Given the description of an element on the screen output the (x, y) to click on. 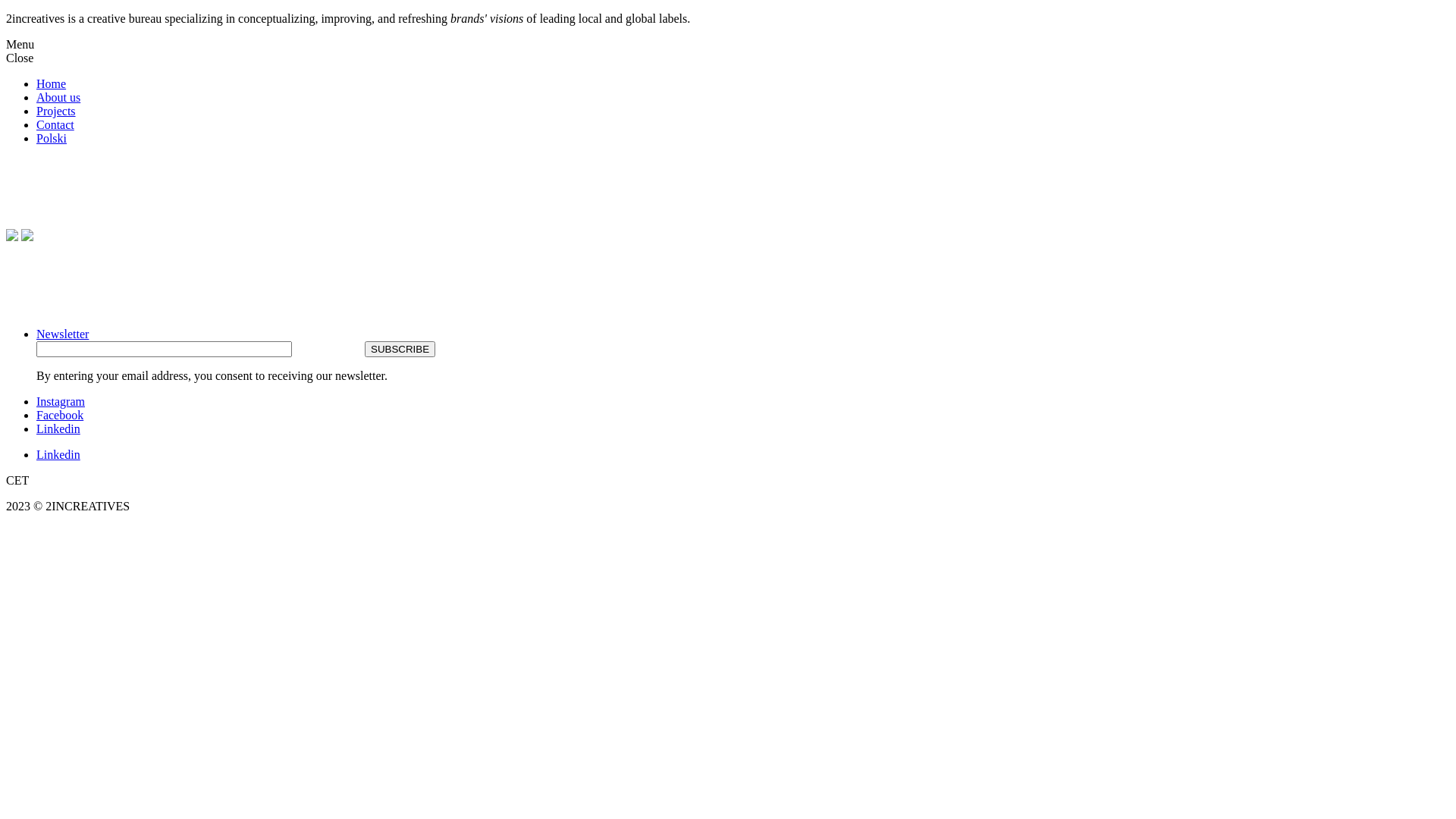
Home Element type: text (50, 83)
Linkedin Element type: text (58, 454)
Linkedin Element type: text (58, 428)
Projects Element type: text (55, 110)
SUBSCRIBE Element type: text (399, 349)
Contact Element type: text (55, 124)
About us Element type: text (58, 97)
Newsletter Element type: text (62, 333)
Polski Element type: text (51, 137)
Facebook Element type: text (59, 414)
Instagram Element type: text (60, 401)
